Given the description of an element on the screen output the (x, y) to click on. 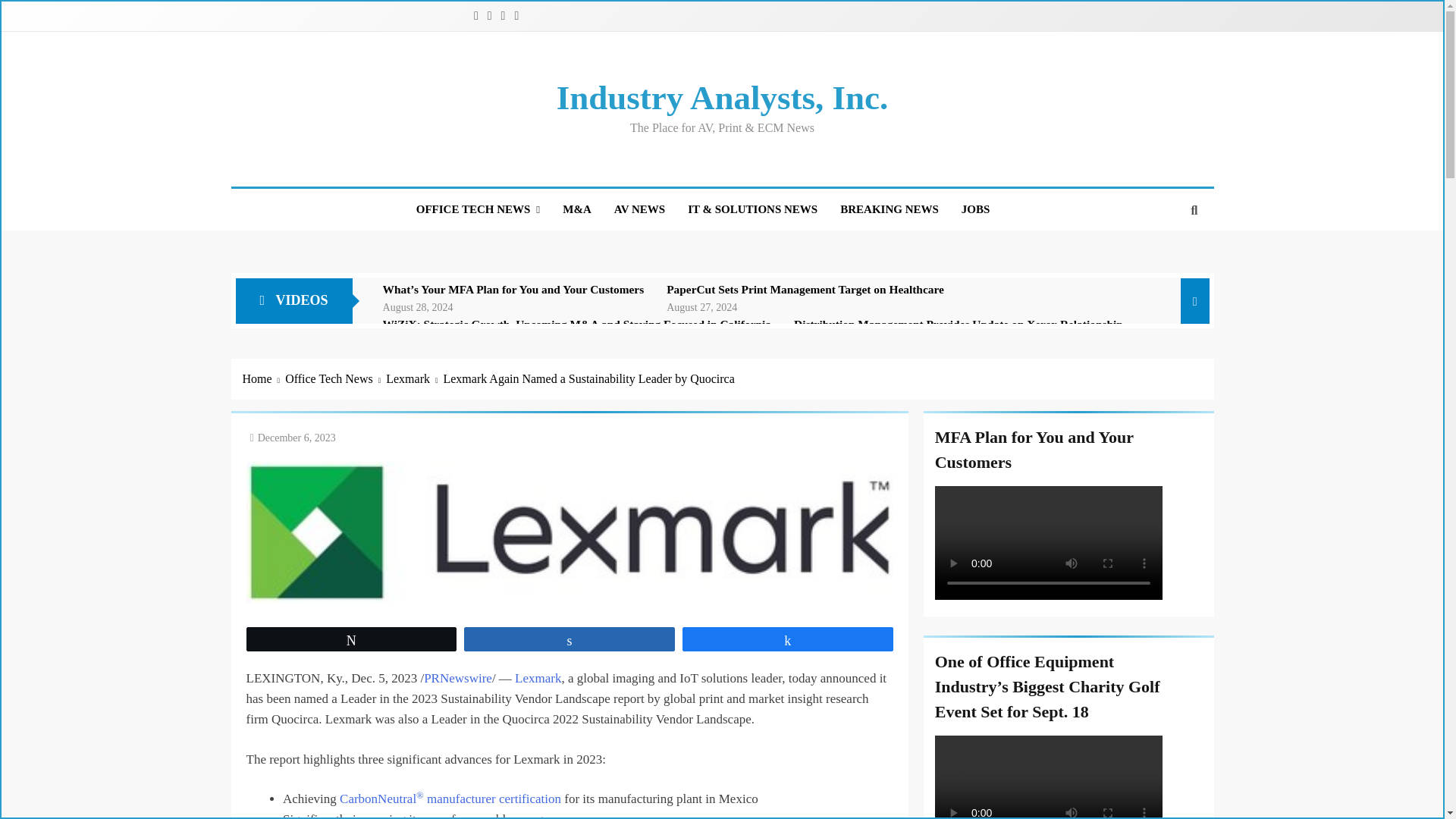
AV NEWS (639, 209)
PaperCut Sets Print Management Target on Healthcare (804, 289)
December 6, 2023 (296, 437)
Acquisitions (576, 209)
Industry Analysts, Inc. (722, 97)
August 27, 2024 (701, 306)
Office Tech News (335, 379)
Lexmark (413, 379)
OFFICE TECH NEWS (477, 209)
